Given the description of an element on the screen output the (x, y) to click on. 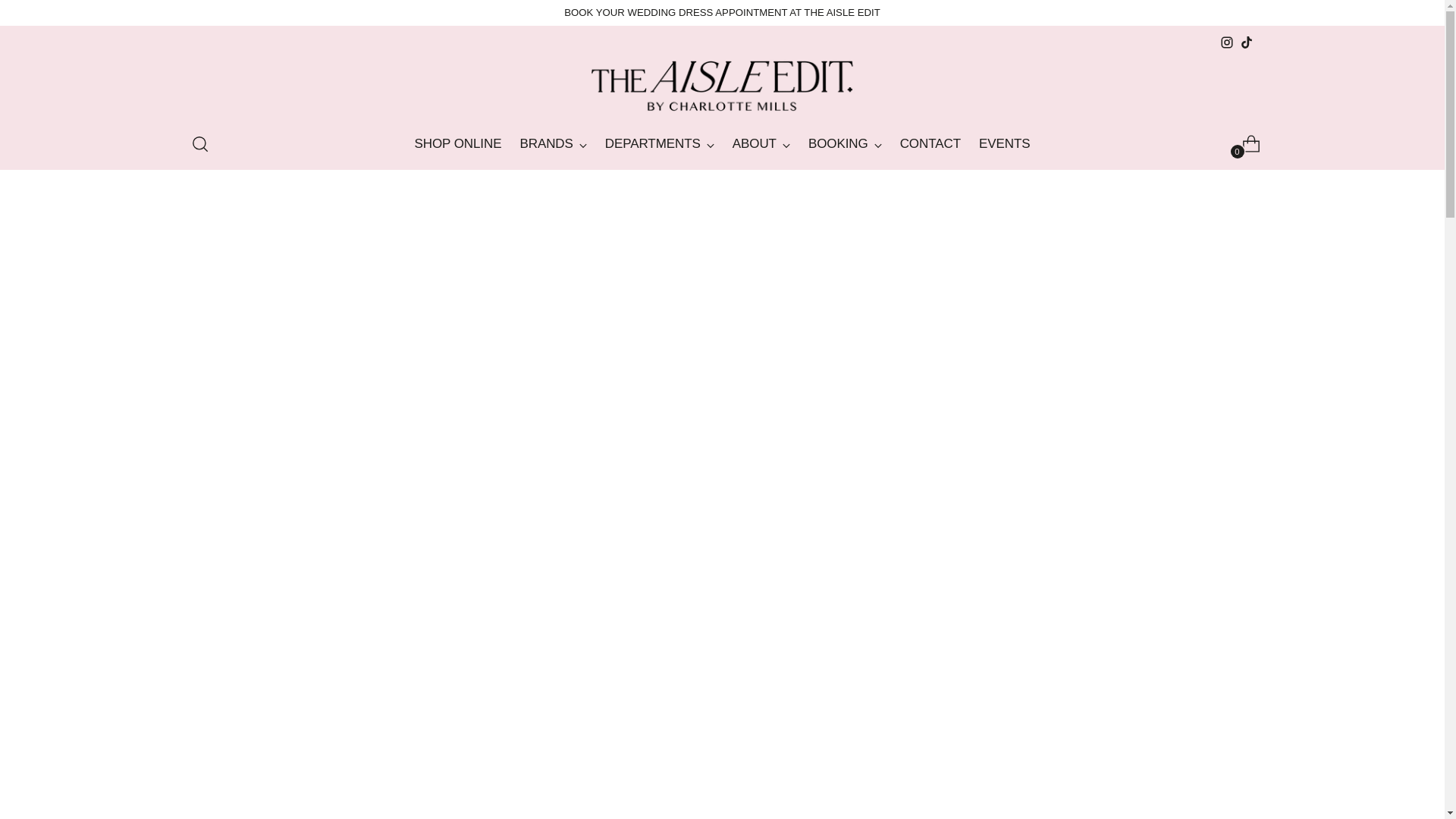
DEPARTMENTS (721, 143)
BOOK YOUR WEDDING DRESS APPOINTMENT AT THE AISLE EDIT (659, 143)
The Aisle Edit on Instagram (721, 12)
The Aisle Edit on Tiktok (1226, 42)
SHOP ONLINE (1245, 42)
BRANDS (456, 143)
